Given the description of an element on the screen output the (x, y) to click on. 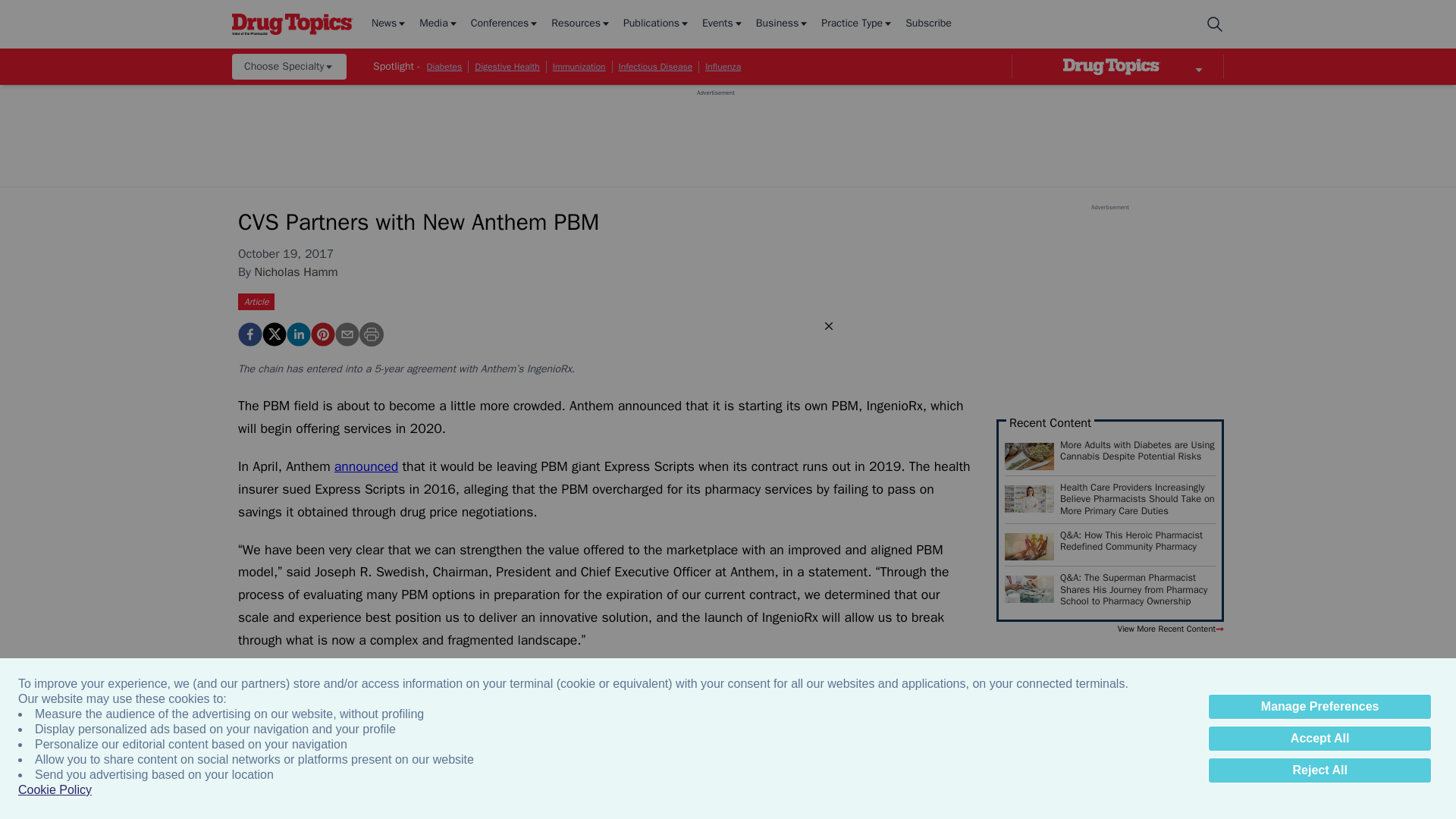
CVS Partners with New Anthem PBM (250, 334)
Reject All (1319, 769)
Resources (581, 23)
3rd party ad content (715, 131)
Accept All (1319, 738)
Events (722, 23)
Conferences (505, 23)
Publications (656, 23)
Cookie Policy (54, 789)
Media (438, 23)
Manage Preferences (1319, 706)
News (389, 23)
CVS Partners with New Anthem PBM (322, 334)
